Given the description of an element on the screen output the (x, y) to click on. 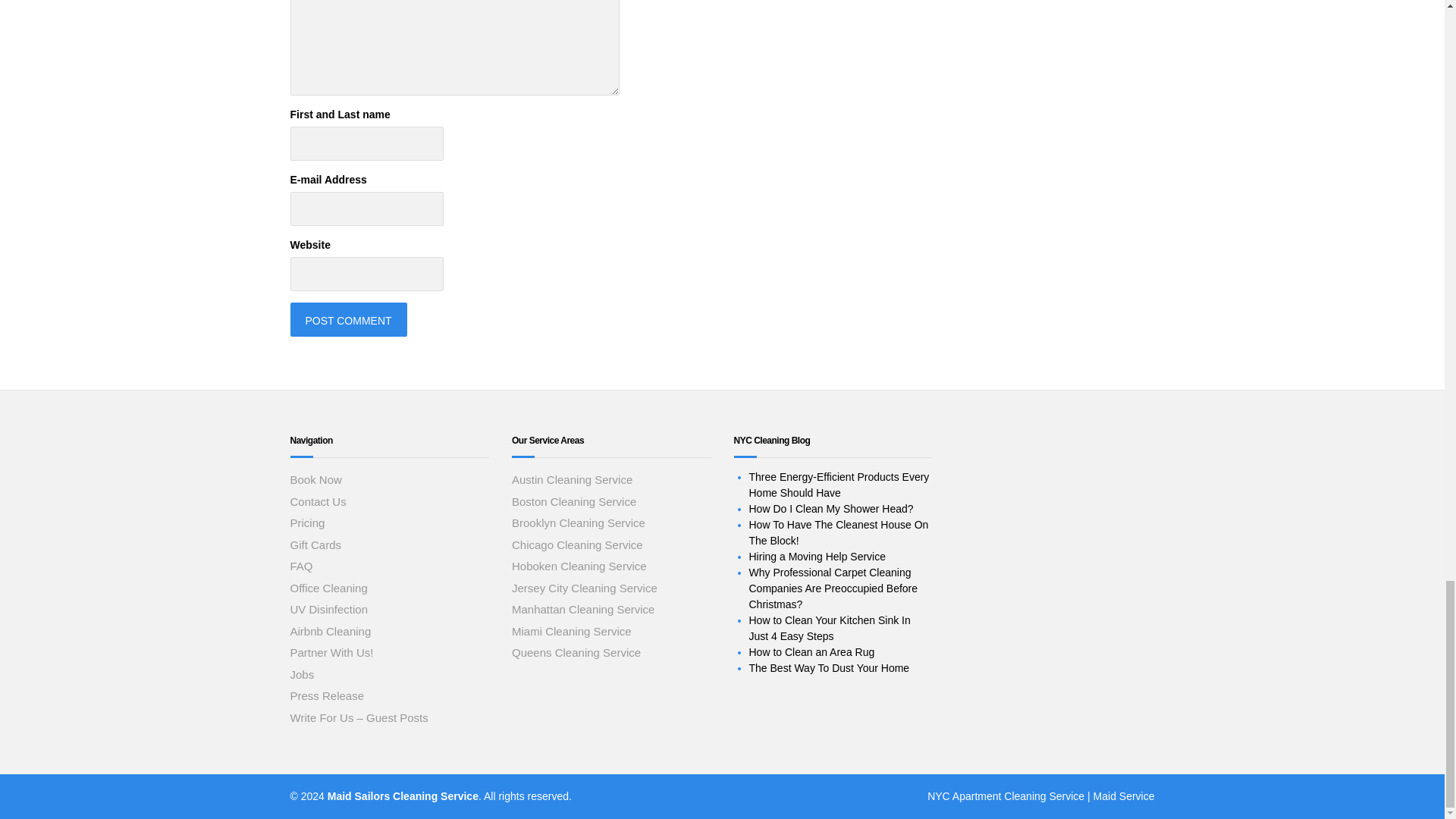
Post Comment (347, 319)
